Given the description of an element on the screen output the (x, y) to click on. 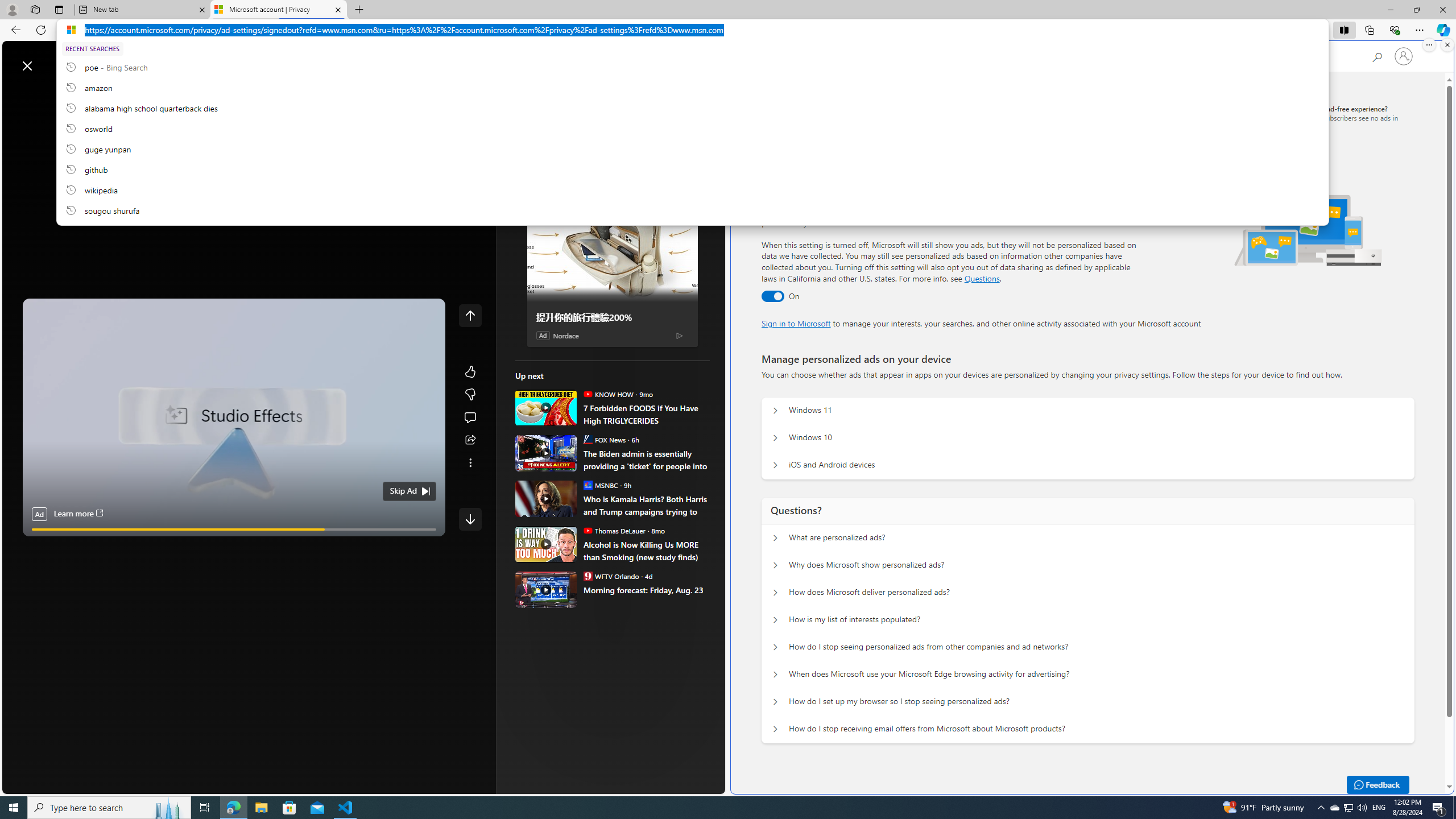
Questions? Why does Microsoft show personalized ads? (775, 565)
Microsoft account | Privacy (277, 9)
Microsoft rewards (654, 60)
Comments (662, 64)
wikipedia, recent searches from history (691, 189)
Pause (38, 542)
